Given the description of an element on the screen output the (x, y) to click on. 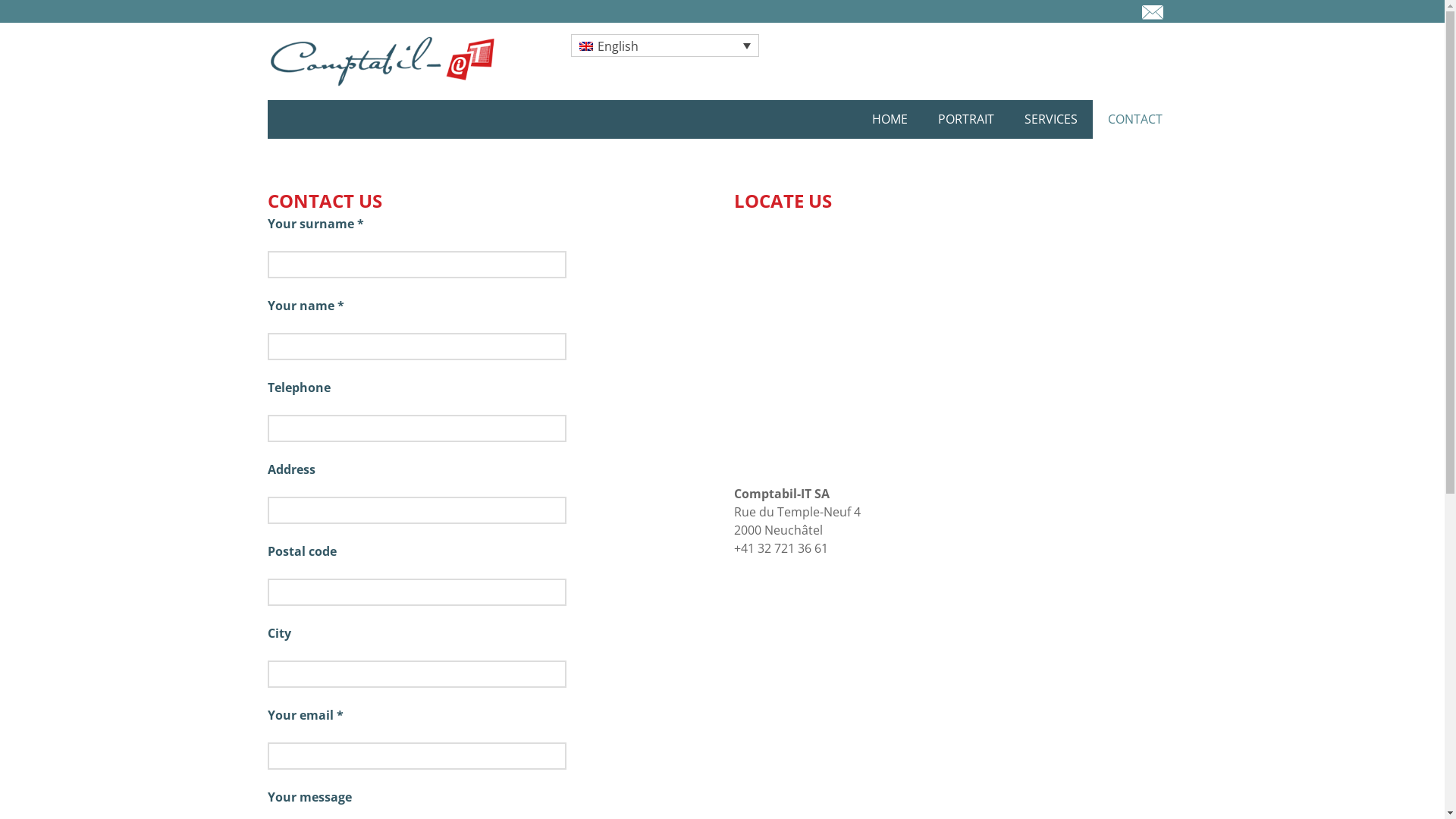
PORTRAIT Element type: text (965, 119)
Skip to content Element type: text (266, 99)
English Element type: text (664, 45)
SERVICES Element type: text (1050, 119)
HOME Element type: text (889, 119)
CONTACT Element type: text (1134, 119)
